Given the description of an element on the screen output the (x, y) to click on. 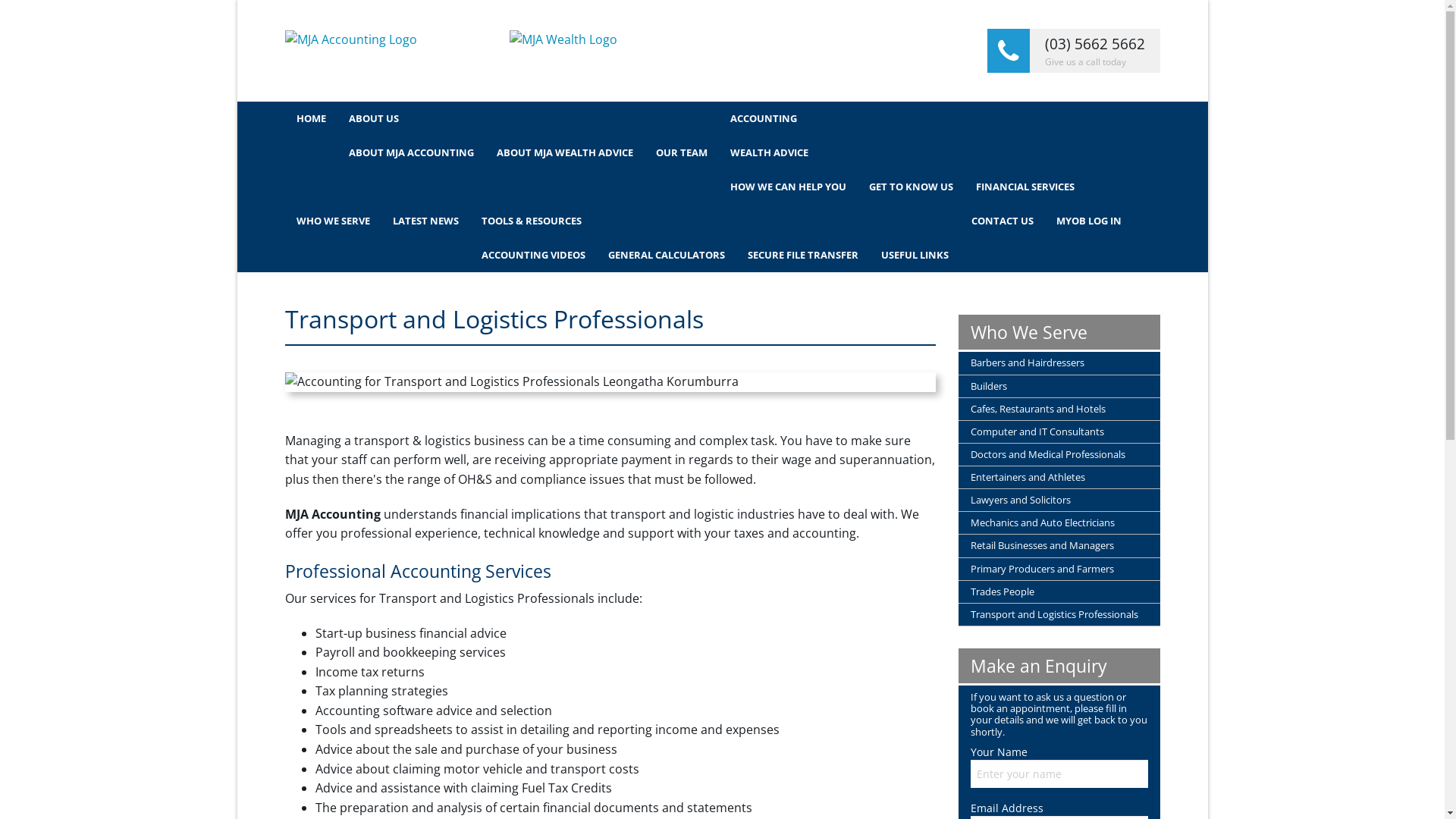
GET TO KNOW US Element type: text (909, 186)
OUR TEAM Element type: text (681, 152)
Barbers and Hairdressers Element type: text (1059, 362)
Primary Producers and Farmers Element type: text (1059, 569)
LATEST NEWS Element type: text (424, 220)
Trades People Element type: text (1059, 591)
ACCOUNTING Element type: text (763, 118)
Doctors and Medical Professionals Element type: text (1059, 454)
Mechanics and Auto Electricians Element type: text (1059, 522)
(03) 5662 5662
Give us a call today Element type: text (1073, 50)
HOW WE CAN HELP YOU Element type: text (787, 186)
ABOUT MJA WEALTH ADVICE Element type: text (564, 152)
FINANCIAL SERVICES Element type: text (1024, 186)
MYOB LOG IN Element type: text (1088, 220)
WEALTH ADVICE Element type: text (901, 152)
Entertainers and Athletes Element type: text (1059, 477)
Builders Element type: text (1059, 385)
TOOLS & RESOURCES Element type: text (715, 220)
WHO WE SERVE Element type: text (333, 220)
ABOUT MJA ACCOUNTING Element type: text (410, 152)
Lawyers and Solicitors Element type: text (1059, 500)
USEFUL LINKS Element type: text (914, 255)
Computer and IT Consultants Element type: text (1059, 431)
Cafes, Restaurants and Hotels Element type: text (1059, 409)
ABOUT US Element type: text (527, 118)
SECURE FILE TRANSFER Element type: text (802, 255)
HOME Element type: text (311, 118)
GENERAL CALCULATORS Element type: text (665, 255)
Transport and Logistics Professionals Element type: text (1059, 614)
CONTACT US Element type: text (1002, 220)
Retail Businesses and Managers Element type: text (1059, 545)
ACCOUNTING VIDEOS Element type: text (533, 255)
